Given the description of an element on the screen output the (x, y) to click on. 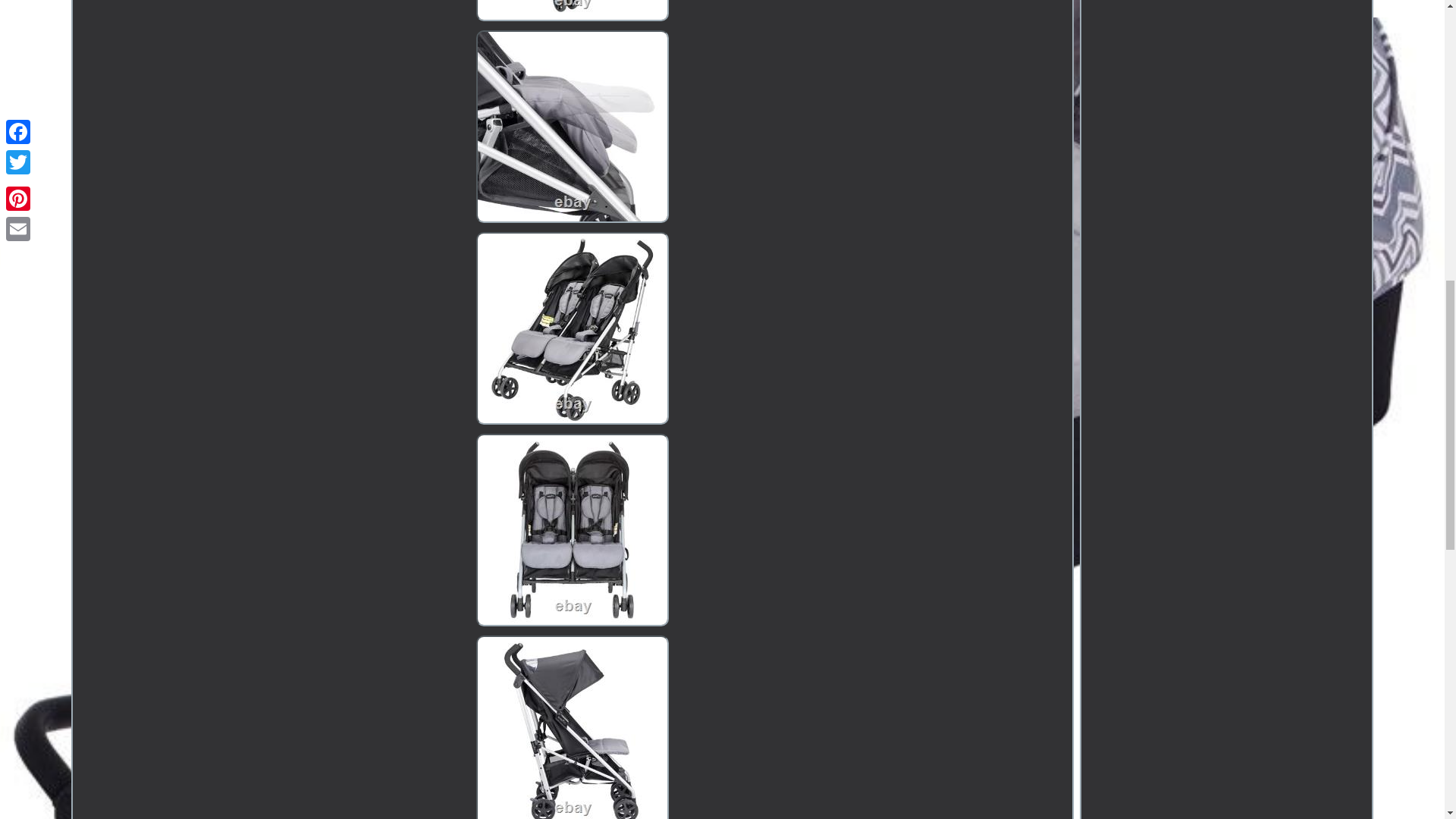
Evenflo Minno Twin Double Stroller, Glenbarr Gray (572, 328)
Evenflo Minno Twin Double Stroller, Glenbarr Gray (572, 530)
Evenflo Minno Twin Double Stroller, Glenbarr Gray (572, 727)
Evenflo Minno Twin Double Stroller, Glenbarr Gray (572, 10)
Evenflo Minno Twin Double Stroller, Glenbarr Gray (572, 126)
